Given the description of an element on the screen output the (x, y) to click on. 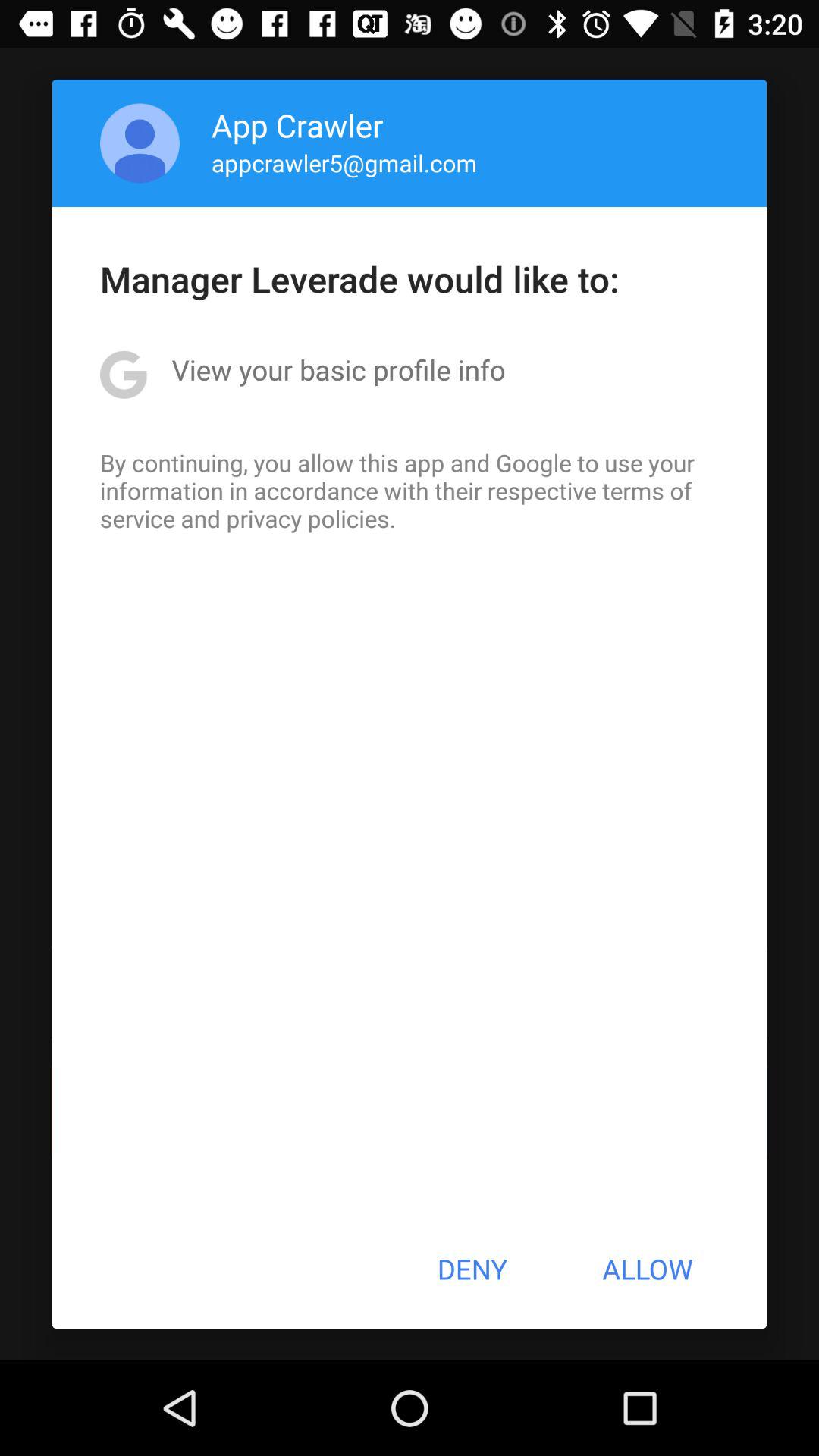
scroll until view your basic icon (338, 369)
